Given the description of an element on the screen output the (x, y) to click on. 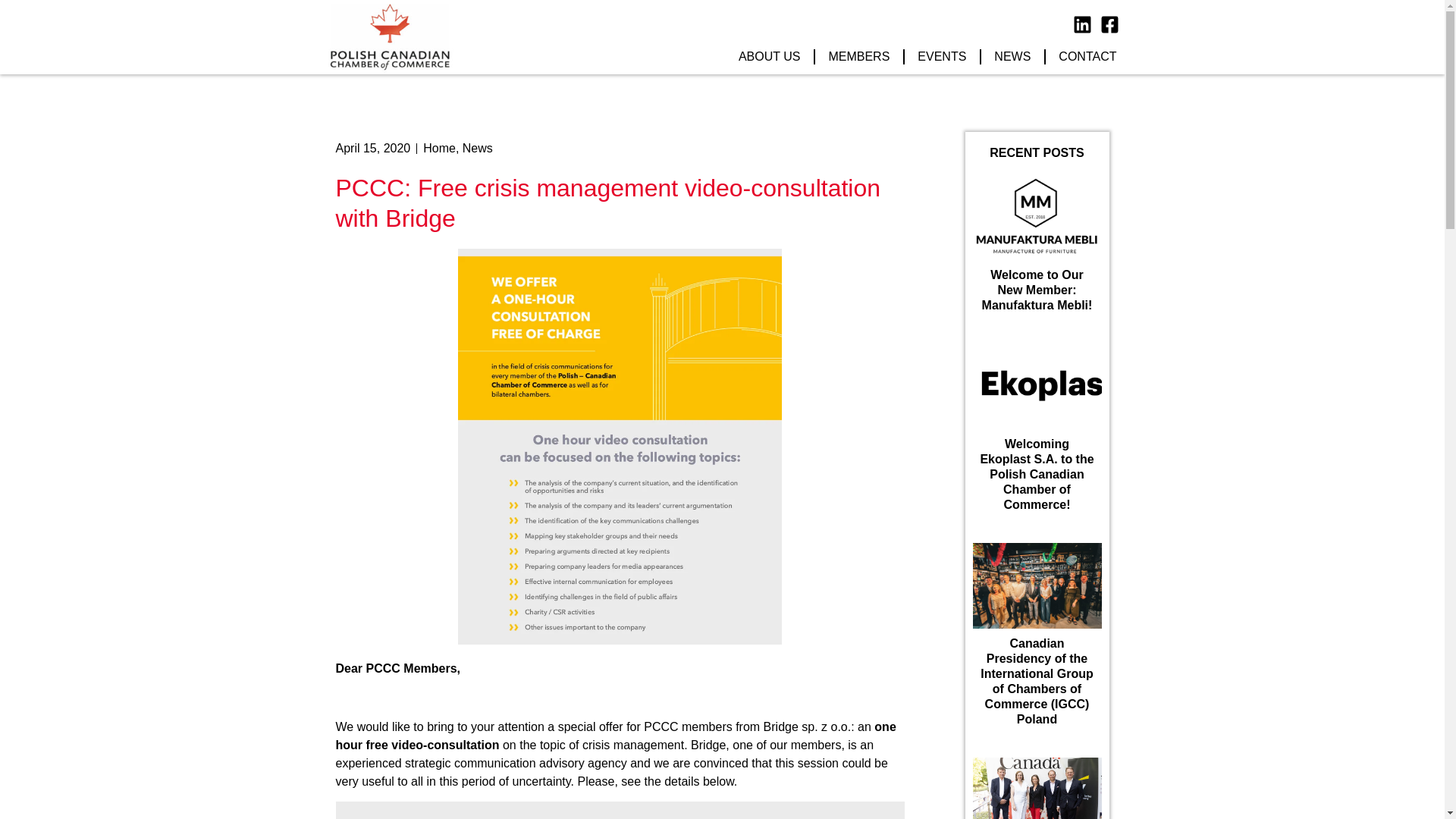
NEWS (1012, 56)
Welcome to Our New Member: Manufaktura Mebli! (1037, 290)
EVENTS (941, 56)
CONTACT (1087, 56)
MEMBERS (858, 56)
ABOUT US (769, 56)
